Given the description of an element on the screen output the (x, y) to click on. 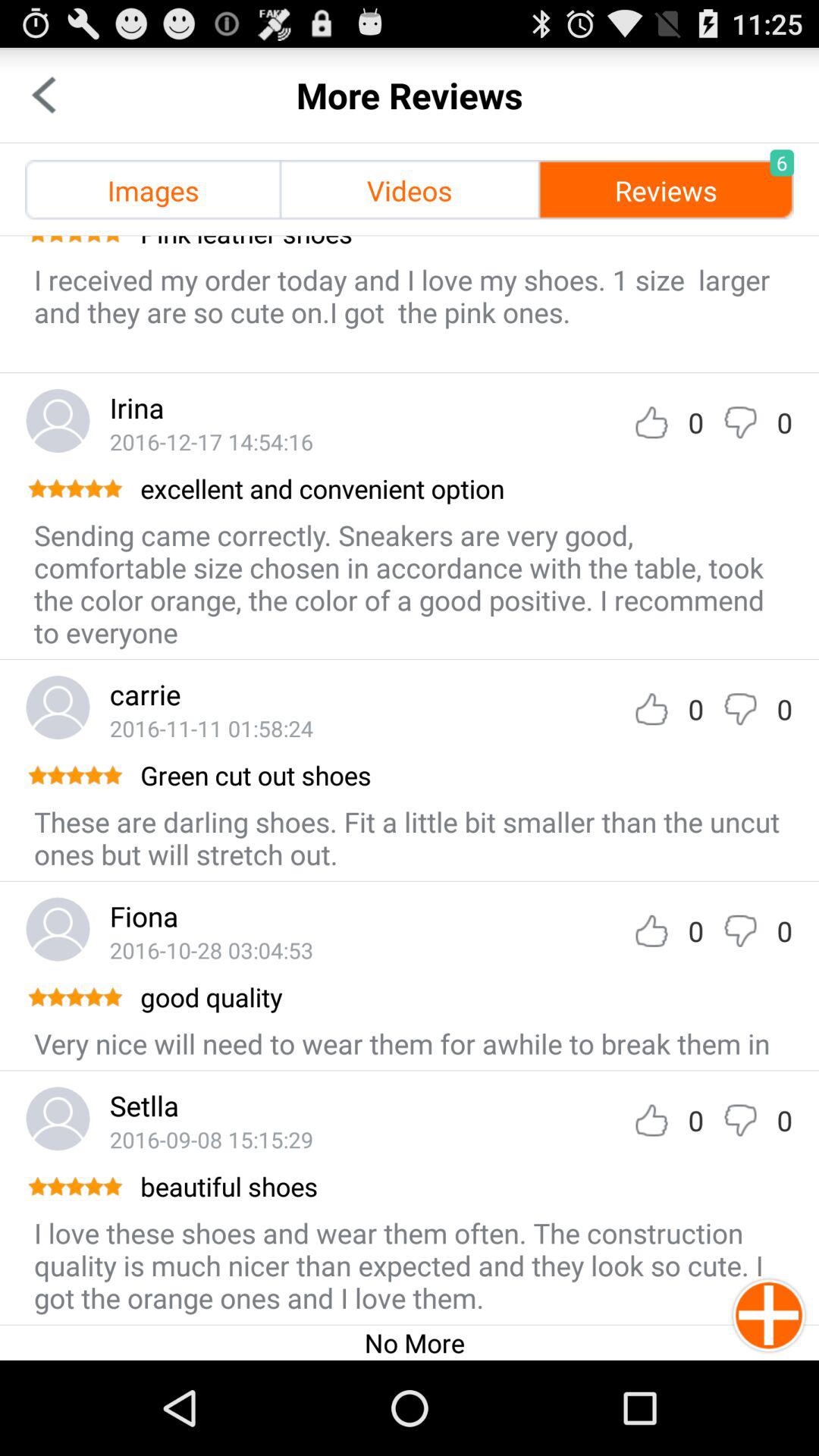
choose dislike option (740, 1120)
